Given the description of an element on the screen output the (x, y) to click on. 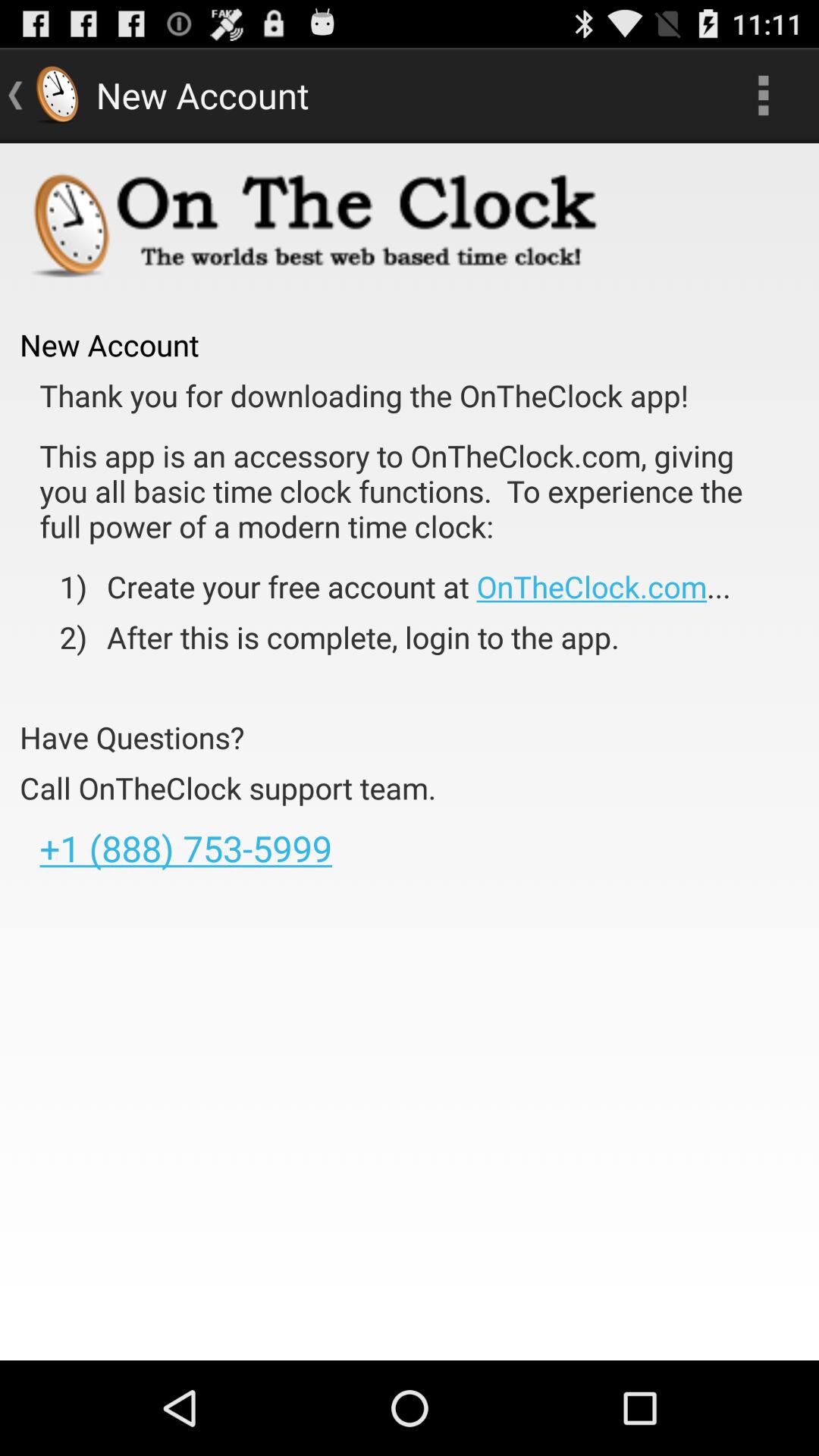
choose the item above the this app is icon (363, 395)
